Given the description of an element on the screen output the (x, y) to click on. 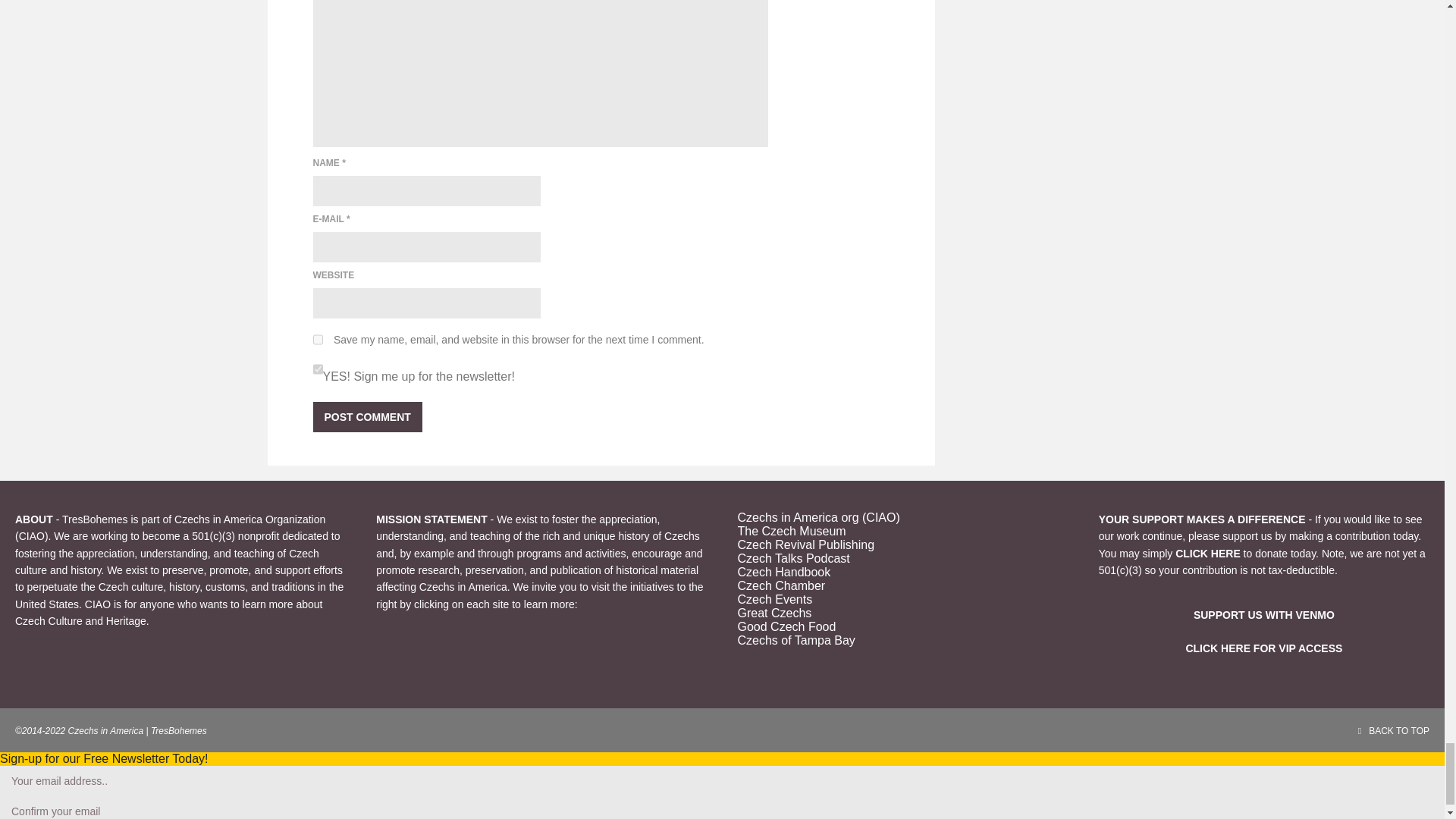
yes (317, 339)
Post Comment (367, 417)
1 (317, 368)
